Given the description of an element on the screen output the (x, y) to click on. 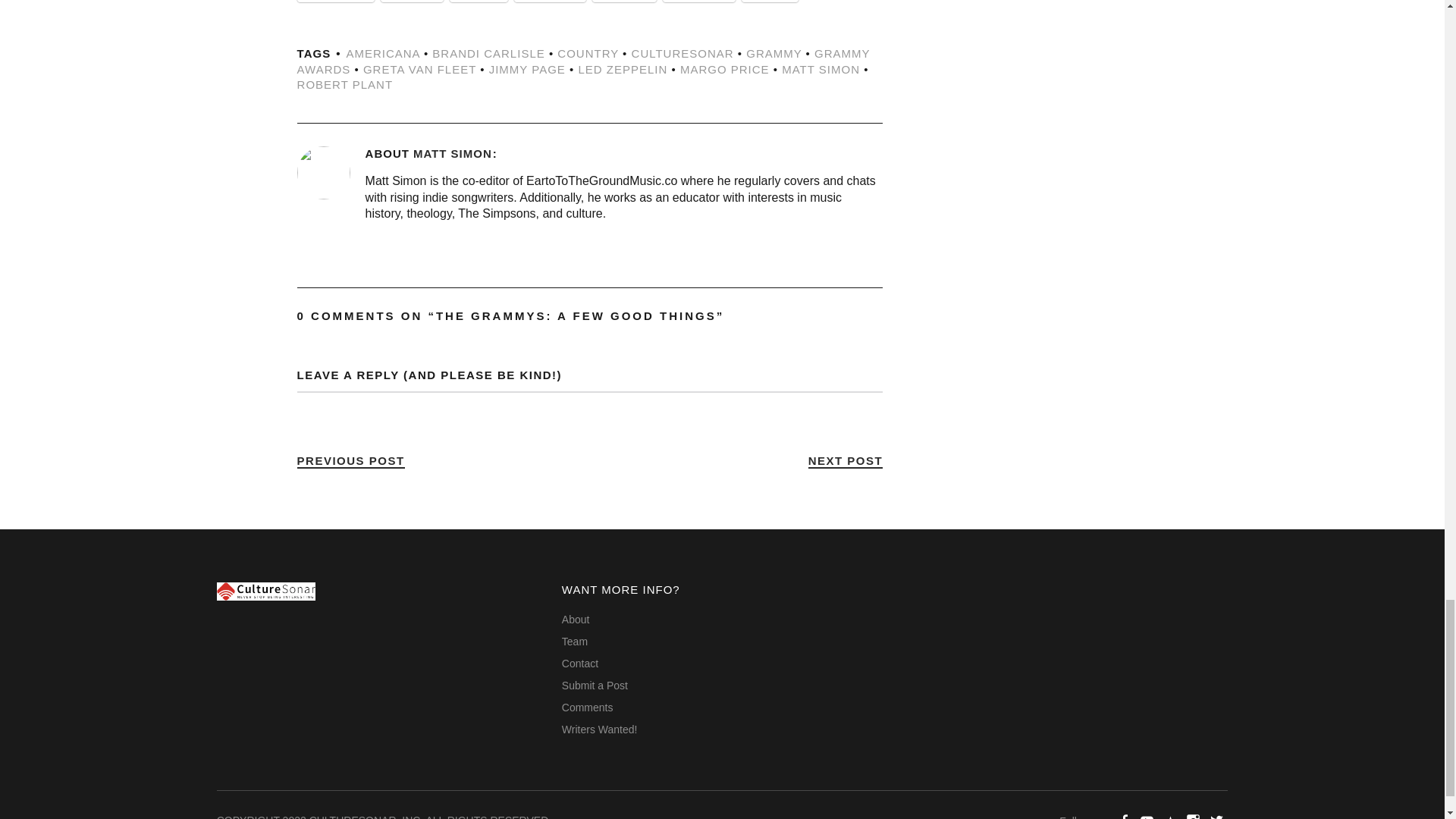
Click to share on Twitter (412, 1)
Click to share on Tumblr (624, 1)
Click to email a link to a friend (478, 1)
Click to share on Pinterest (698, 1)
Click to share on Facebook (335, 1)
Click to share on LinkedIn (549, 1)
